Given the description of an element on the screen output the (x, y) to click on. 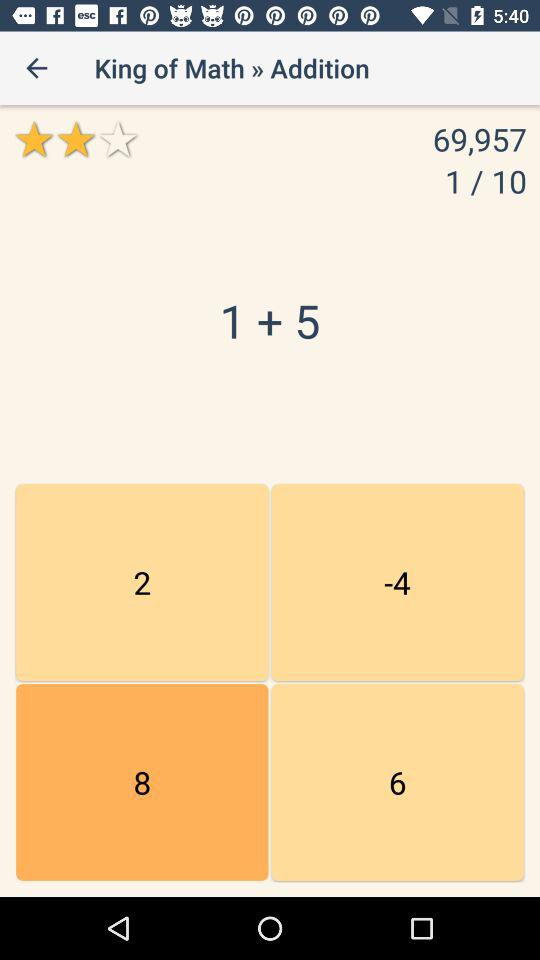
turn off the item to the right of 15 item (397, 582)
